Given the description of an element on the screen output the (x, y) to click on. 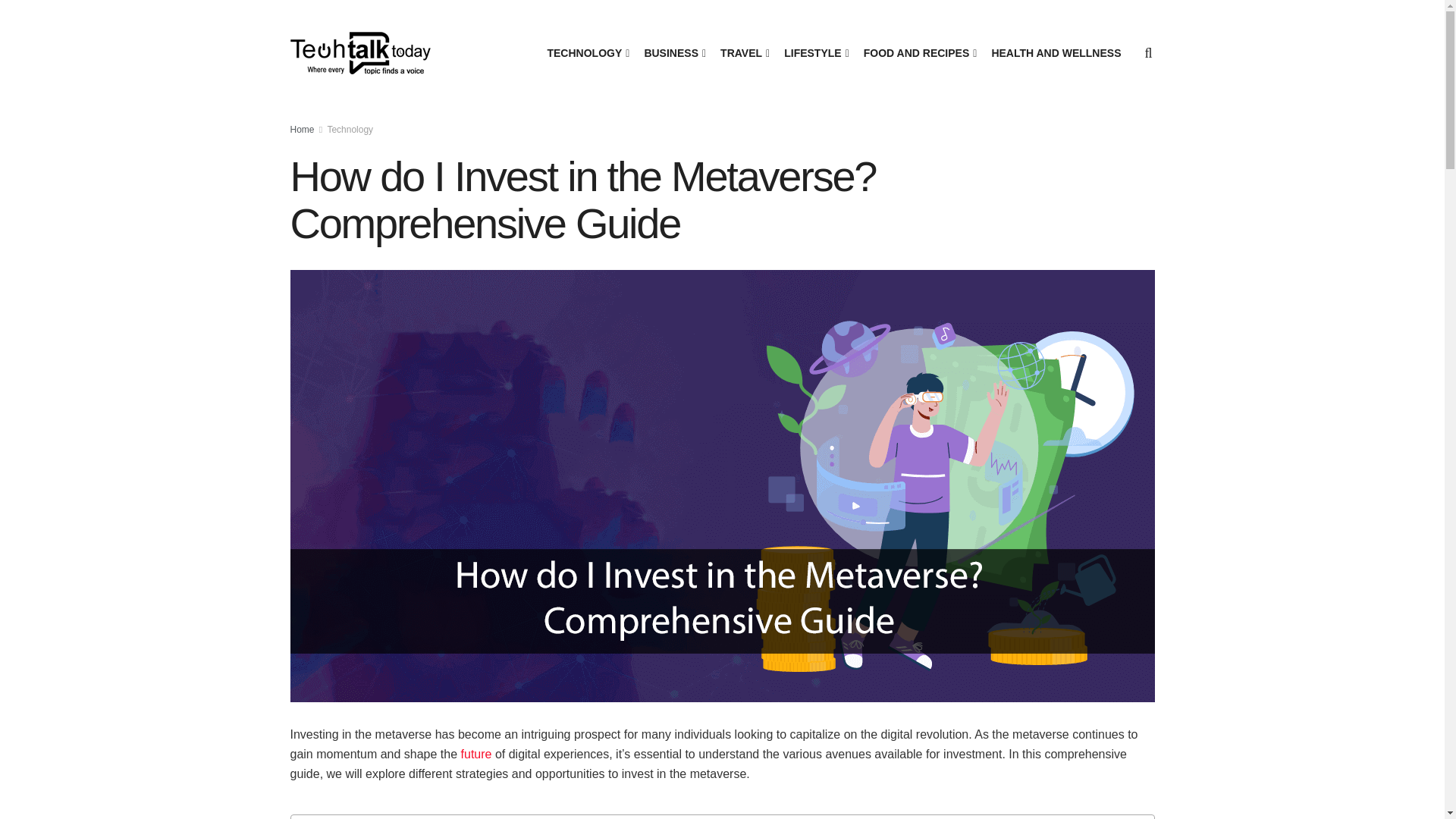
BUSINESS (673, 52)
TECHNOLOGY (587, 52)
TRAVEL (743, 52)
